Given the description of an element on the screen output the (x, y) to click on. 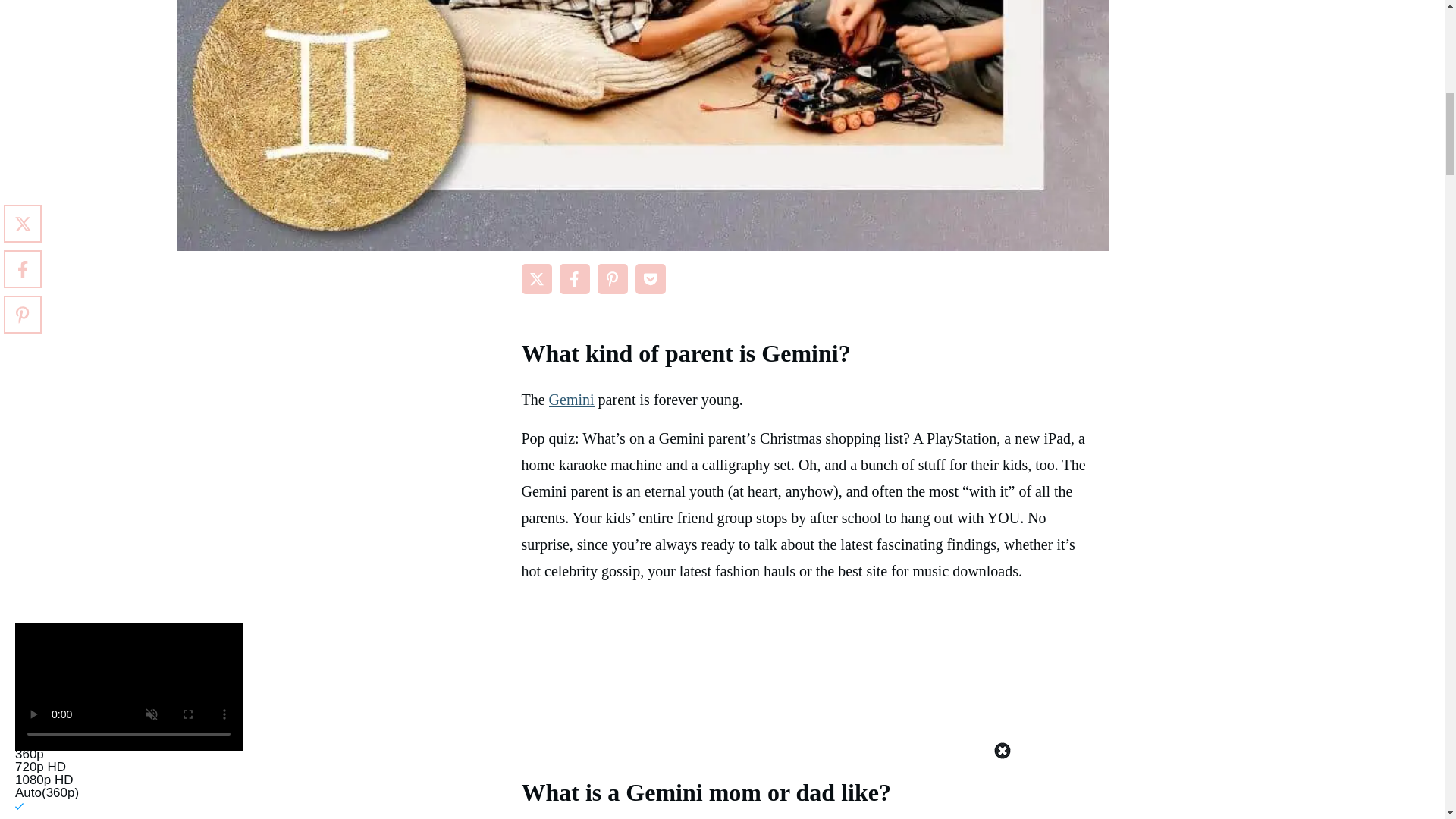
Scroll back to top (1406, 720)
